Given the description of an element on the screen output the (x, y) to click on. 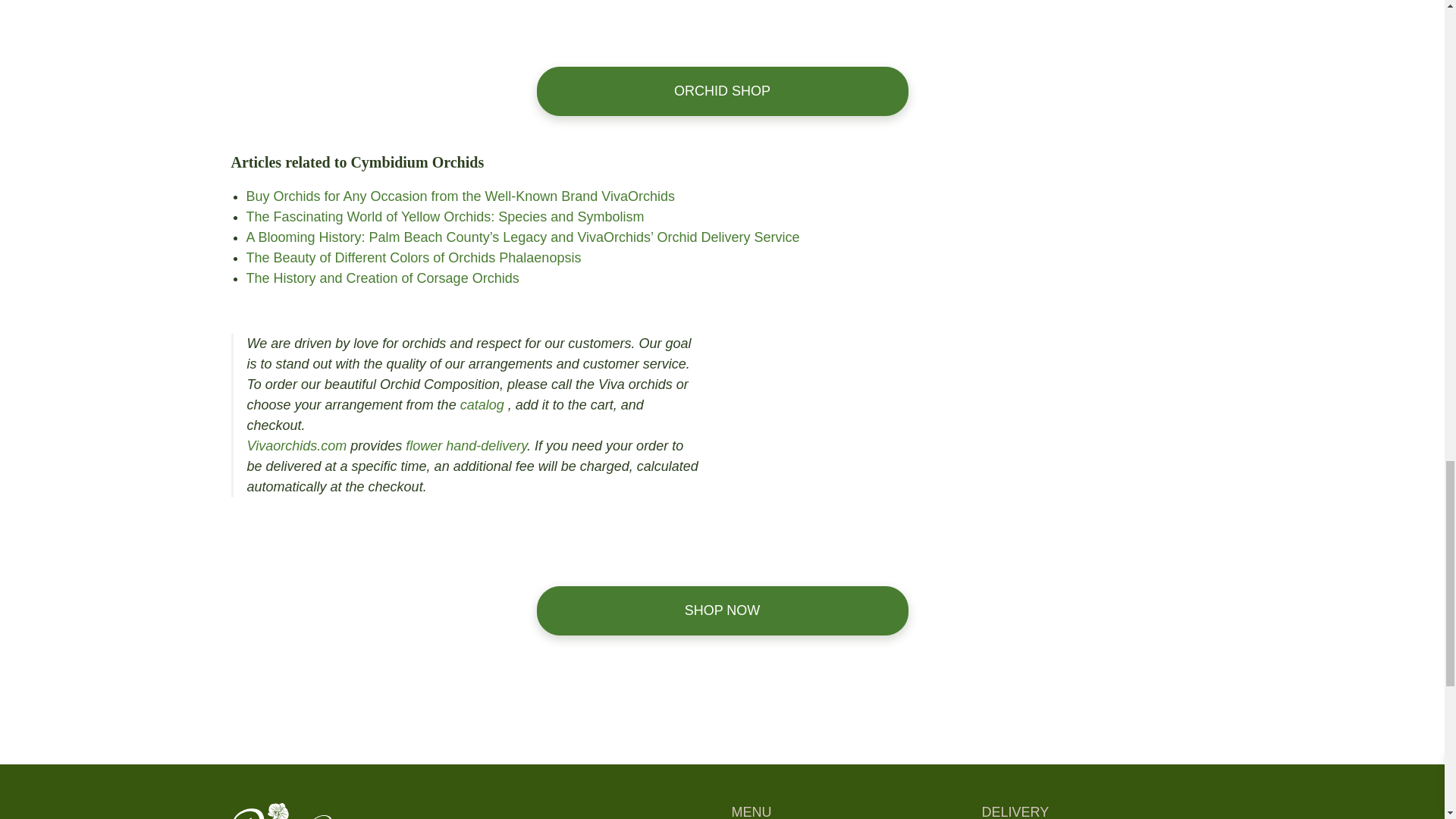
Viva Orchids of Boca Raton Florist (308, 810)
Viva Orchids of Boca Raton (471, 810)
